Given the description of an element on the screen output the (x, y) to click on. 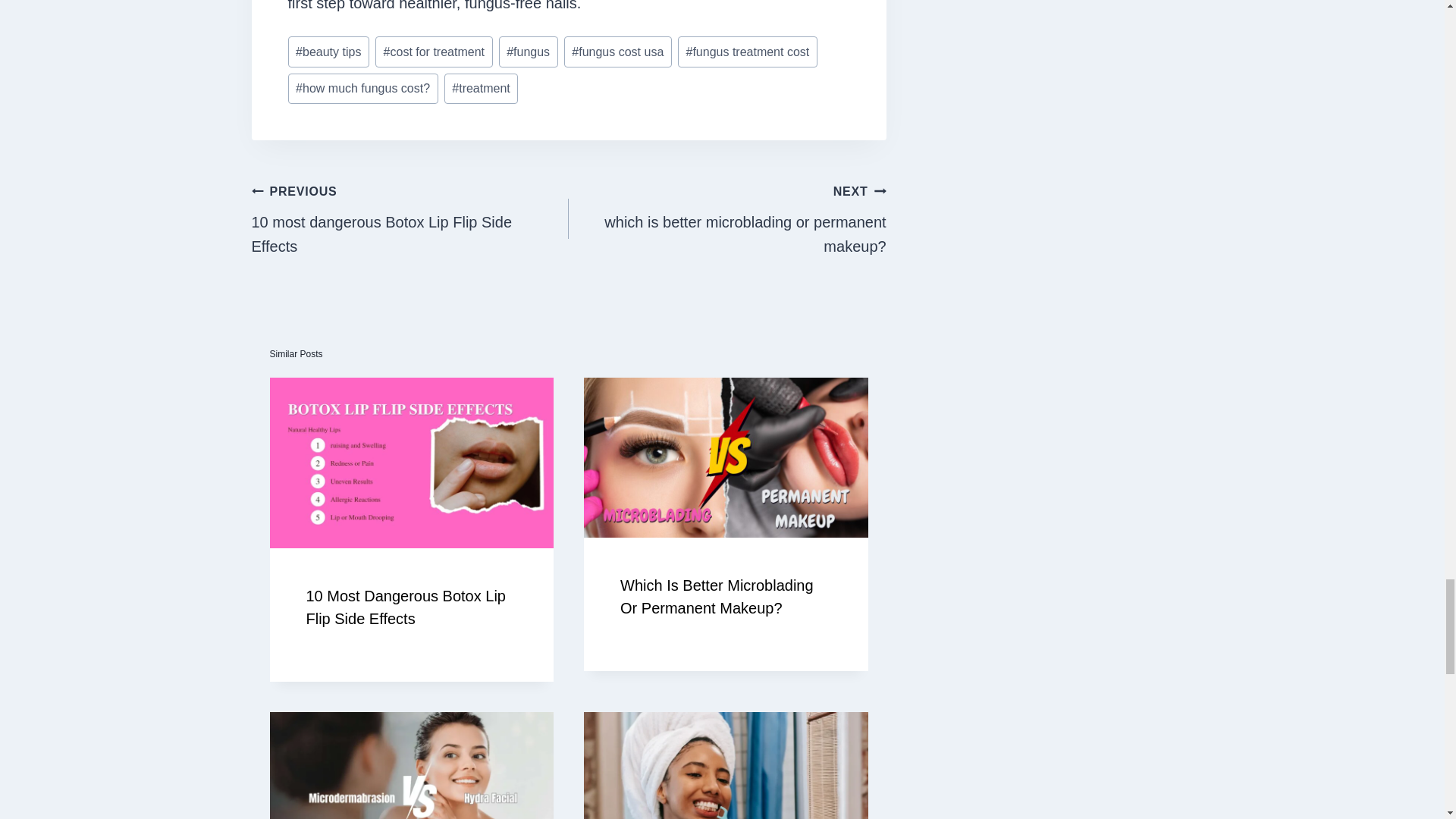
fungus (528, 51)
beauty tips (328, 51)
cost for treatment (434, 51)
fungus cost usa (410, 218)
